Given the description of an element on the screen output the (x, y) to click on. 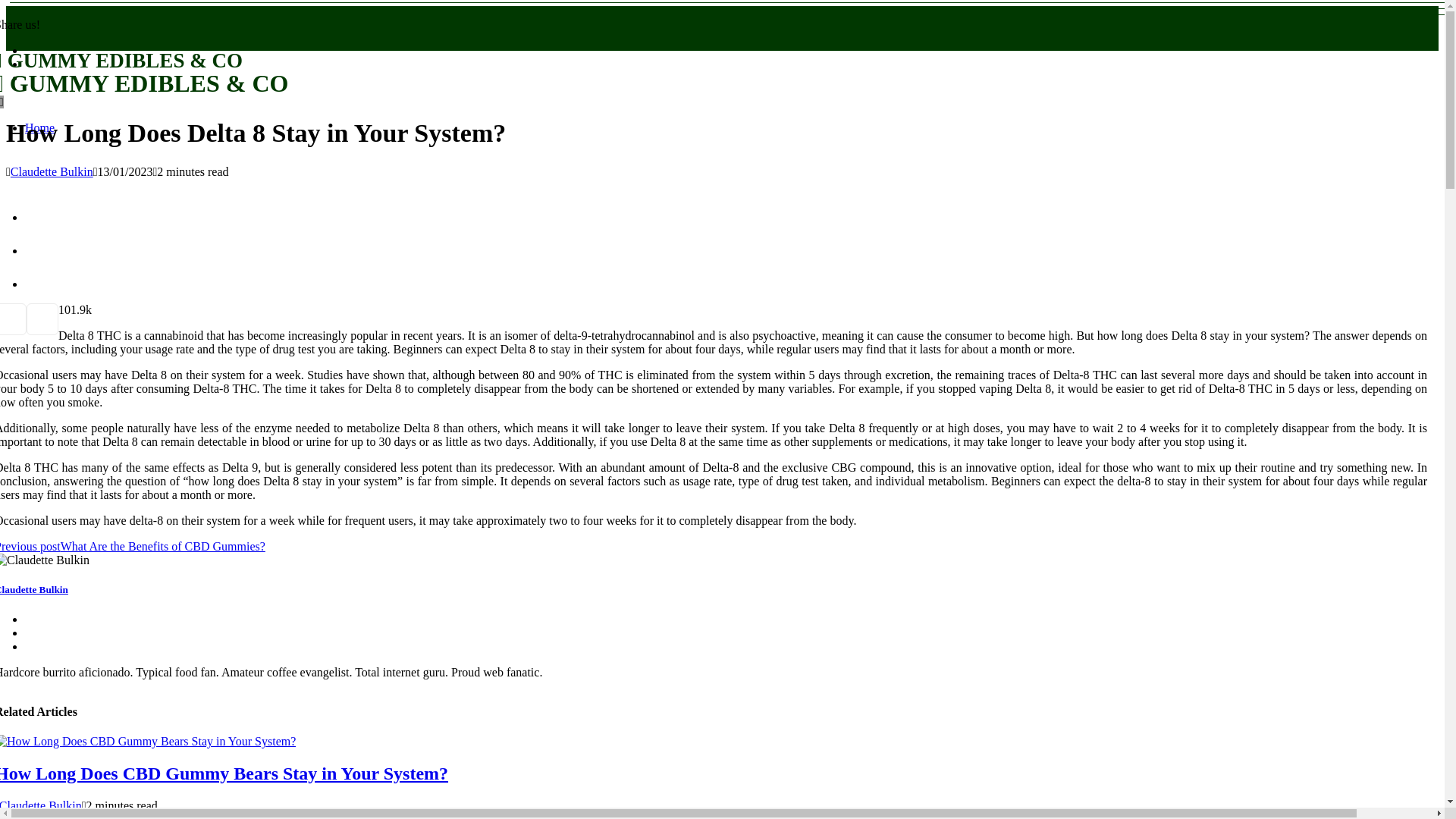
How Long Does CBD Gummy Bears Stay in Your System? (224, 772)
Like (63, 309)
Claudette Bulkin (34, 589)
Previous postWhat Are the Benefits of CBD Gummies? (132, 545)
10 (63, 309)
Claudette Bulkin (51, 171)
Posts by Claudette Bulkin (51, 171)
Posts by Claudette Bulkin (40, 805)
Claudette Bulkin (40, 805)
Home (39, 127)
